Given the description of an element on the screen output the (x, y) to click on. 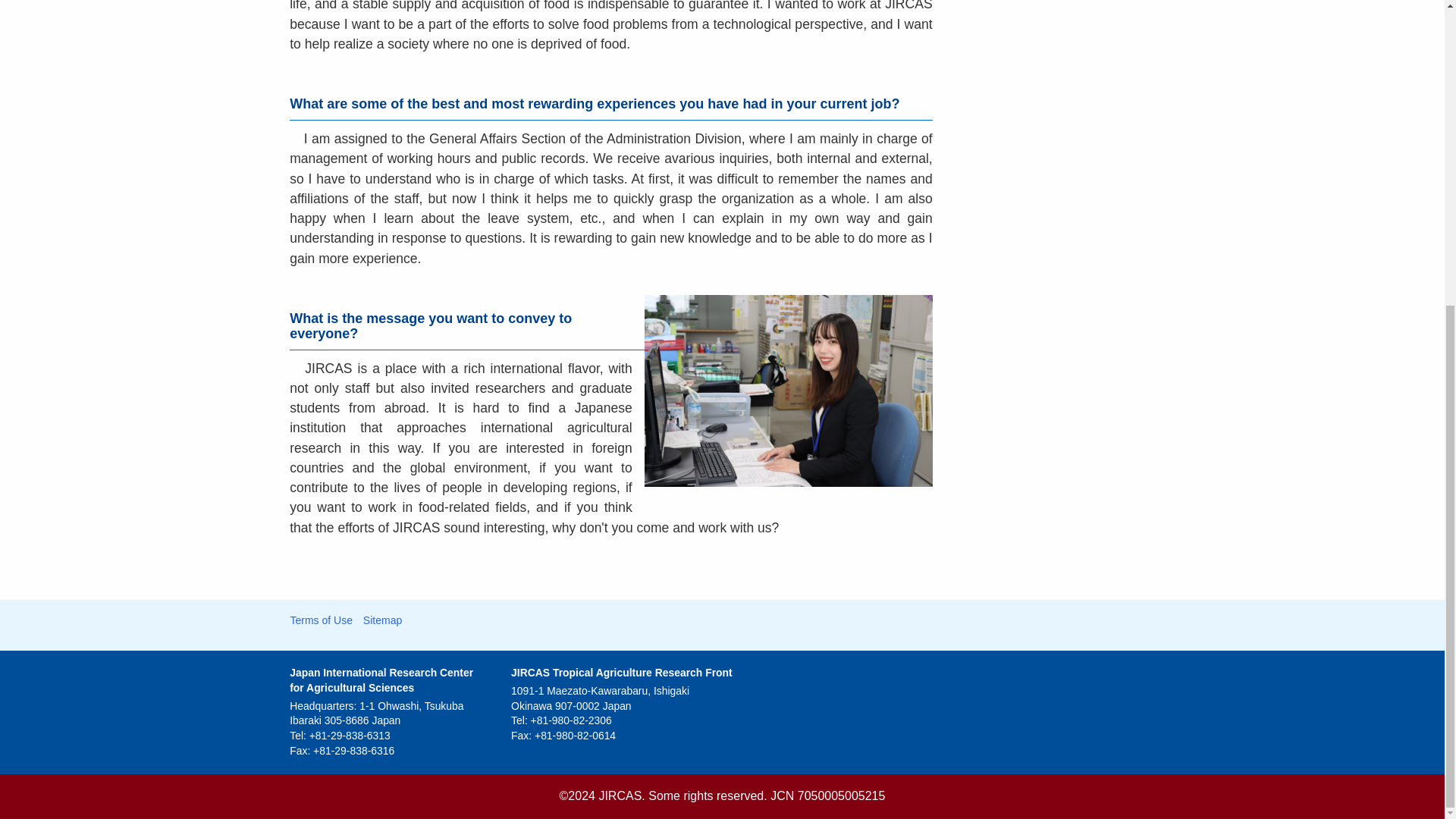
Terms of Use (320, 620)
Some rights reserved. (707, 795)
Sitemap (381, 620)
